Given the description of an element on the screen output the (x, y) to click on. 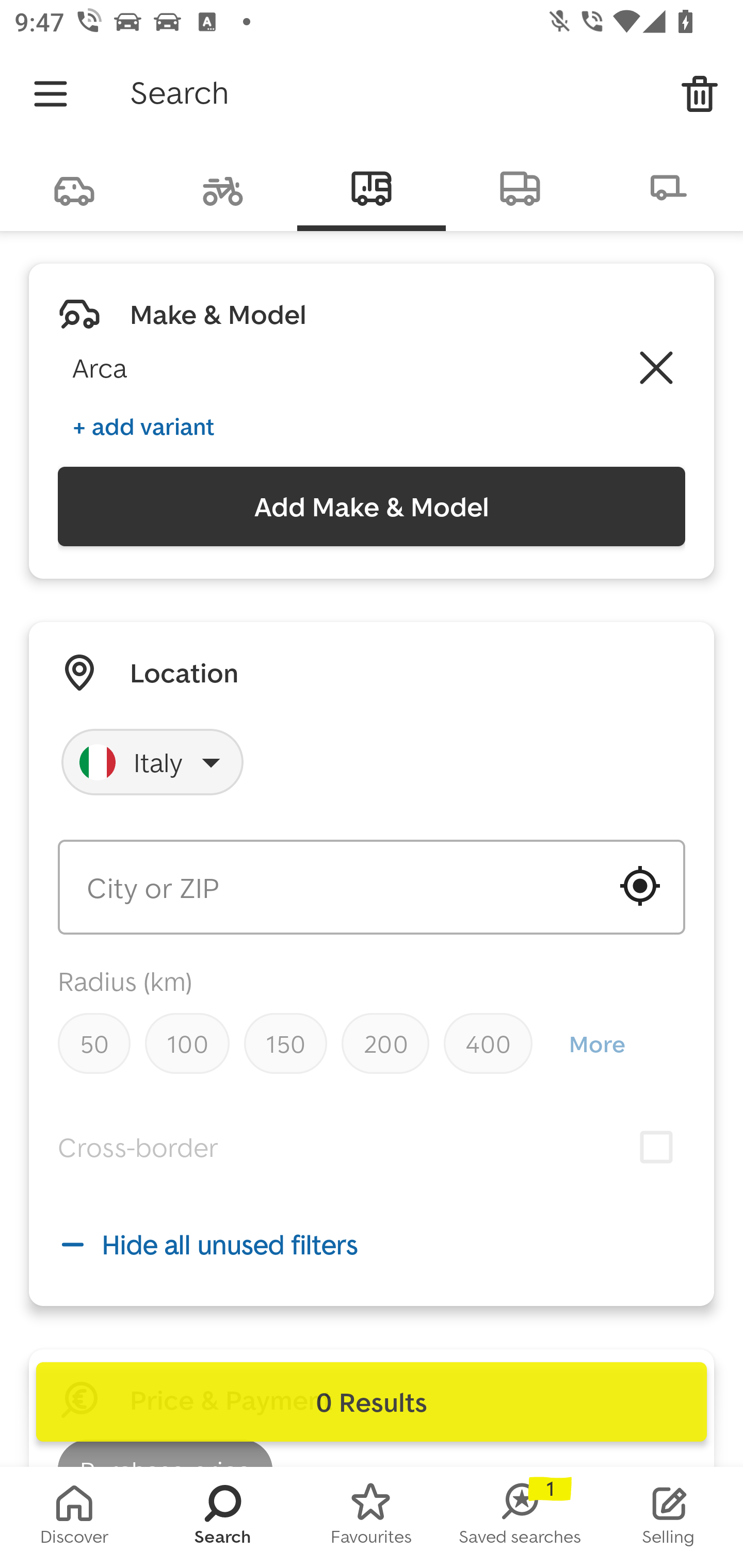
Navigate up (50, 93)
New search (699, 93)
CAR_SEARCH (74, 187)
BIKE_SEARCH (222, 187)
TRUCKS_SEARCH (519, 187)
TRAILERS_SEARCH (668, 187)
Make & Model (218, 314)
+ add variant (143, 426)
Add Make & Model (371, 506)
Location (184, 672)
Italy (152, 761)
City or ZIP (371, 887)
Radius (km) (124, 980)
50 (93, 1043)
100 (186, 1043)
150 (284, 1043)
200 (385, 1043)
400 (487, 1043)
More (596, 1043)
Hide all unused filters (371, 1244)
0 Results (371, 1401)
HOMESCREEN Discover (74, 1517)
SEARCH Search (222, 1517)
FAVORITES Favourites (371, 1517)
SAVED_SEARCHES Saved searches 1 (519, 1517)
STOCK_LIST Selling (668, 1517)
